Given the description of an element on the screen output the (x, y) to click on. 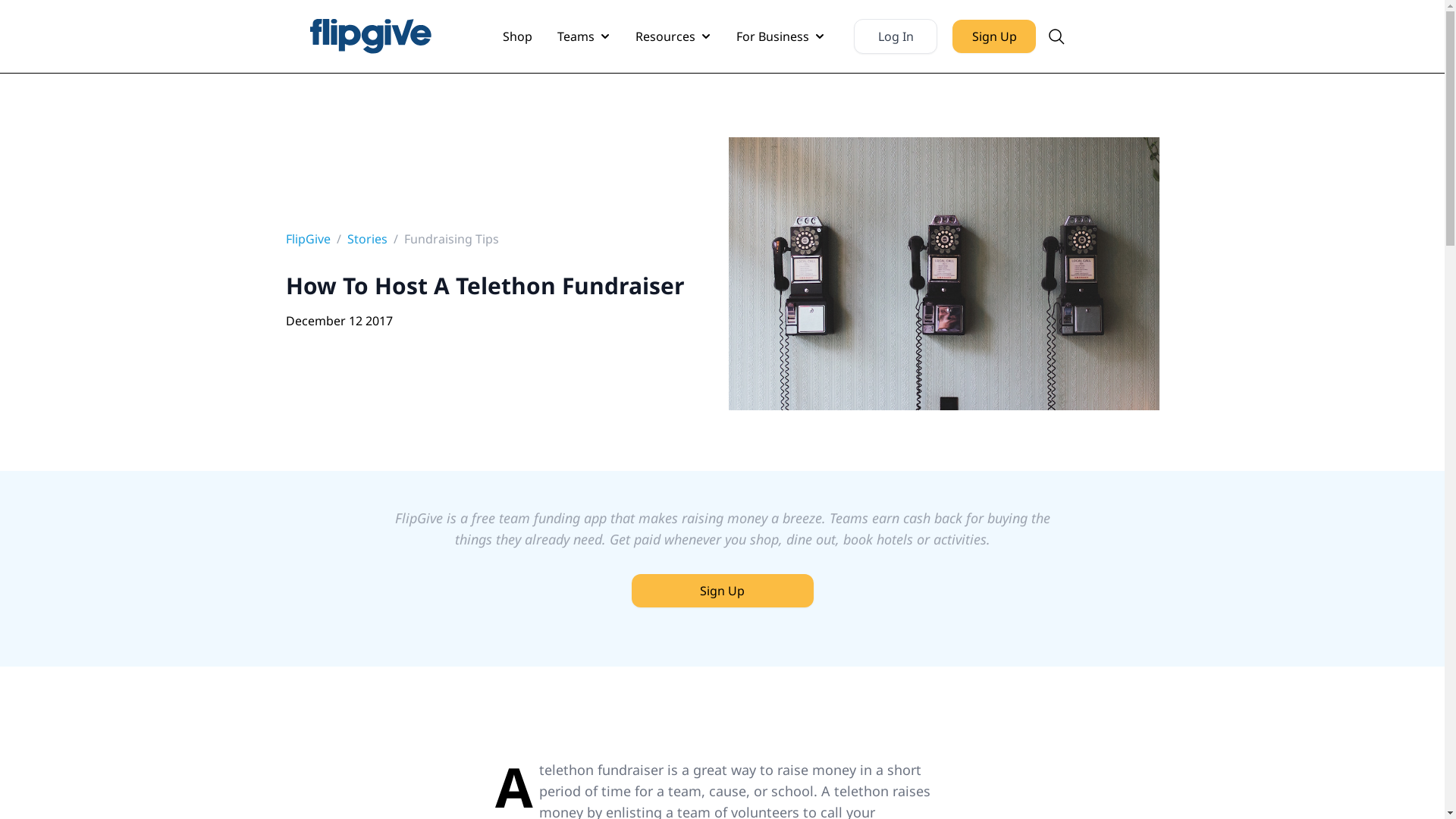
Fundraising Tips (450, 238)
Stories (367, 238)
Teams (585, 36)
Log In (895, 36)
Sign Up (993, 36)
Sign Up (721, 590)
Shop (517, 36)
FlipGive (307, 238)
Sign Up (721, 590)
Resources (674, 36)
For Business (781, 36)
